Given the description of an element on the screen output the (x, y) to click on. 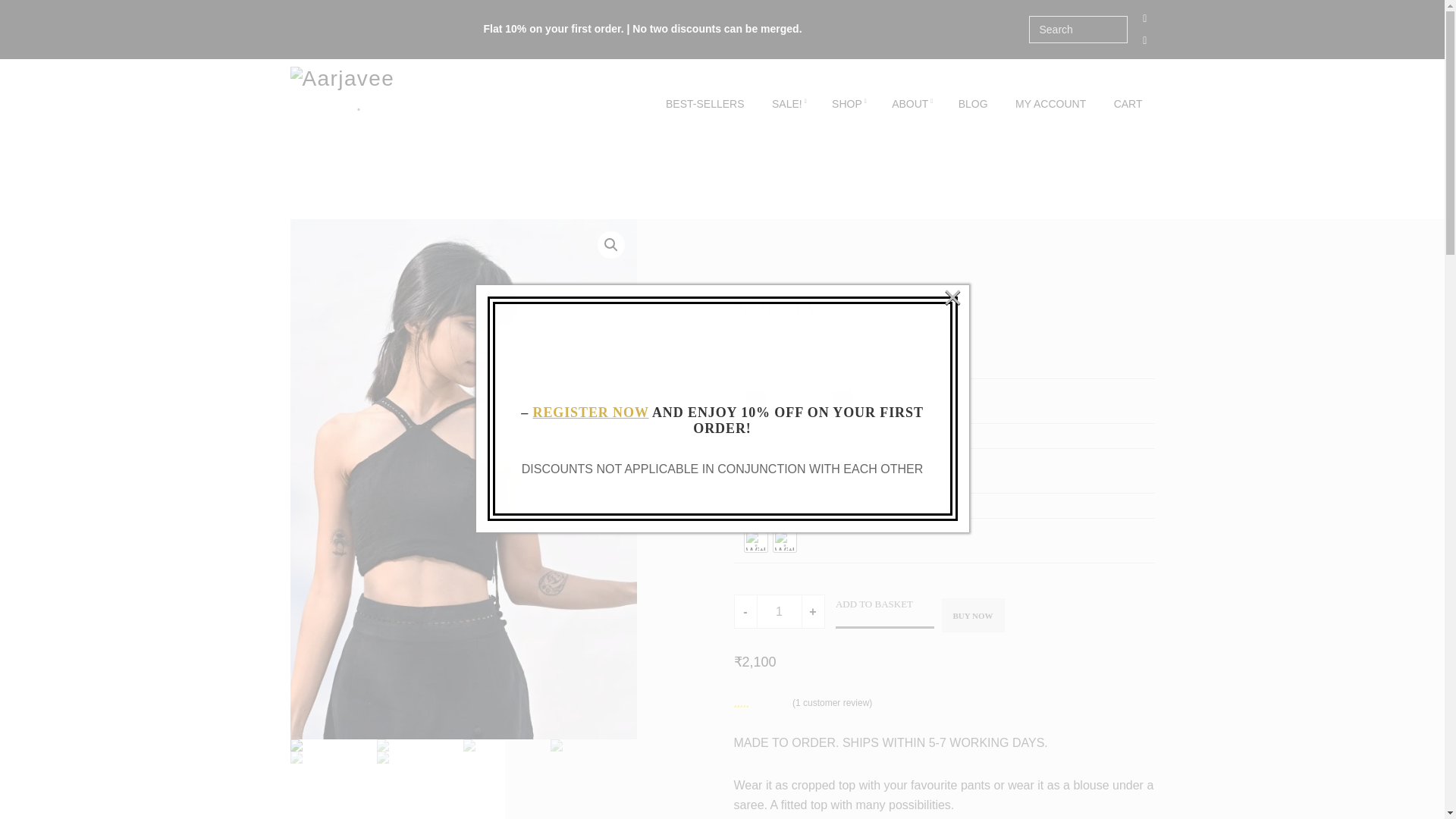
Ivory (813, 400)
2XL (899, 470)
Black (755, 400)
XS (755, 470)
1 (779, 611)
Custom (928, 470)
S (784, 470)
Navy (842, 400)
Without Lining (784, 540)
L (842, 470)
